Given the description of an element on the screen output the (x, y) to click on. 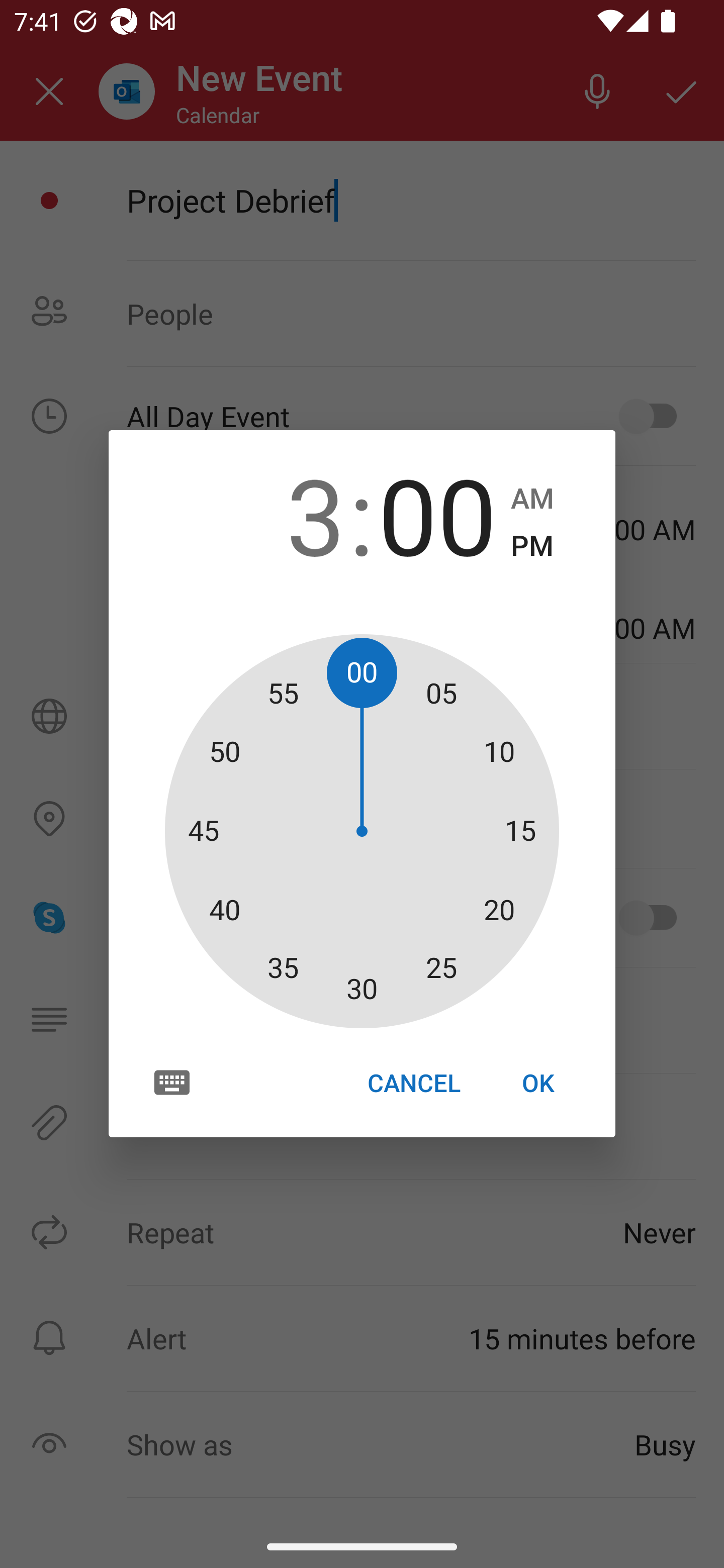
3 (285, 513)
00 (436, 513)
AM (532, 498)
PM (532, 546)
CANCEL (413, 1082)
OK (537, 1082)
Switch to text input mode for the time input. (171, 1081)
